Given the description of an element on the screen output the (x, y) to click on. 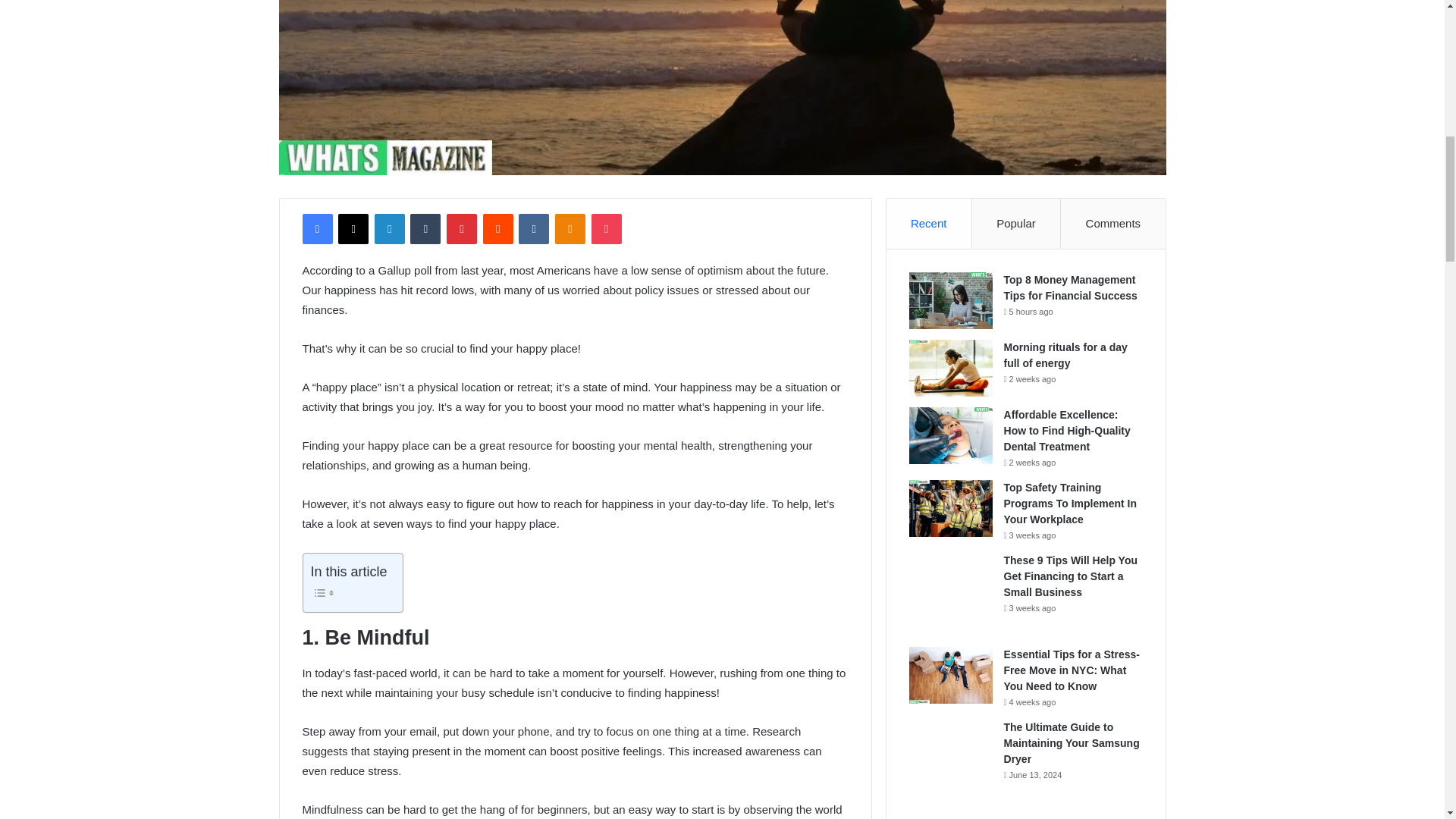
Tumblr (425, 228)
Facebook (316, 228)
LinkedIn (389, 228)
Pinterest (461, 228)
X (352, 228)
Facebook (316, 228)
